Given the description of an element on the screen output the (x, y) to click on. 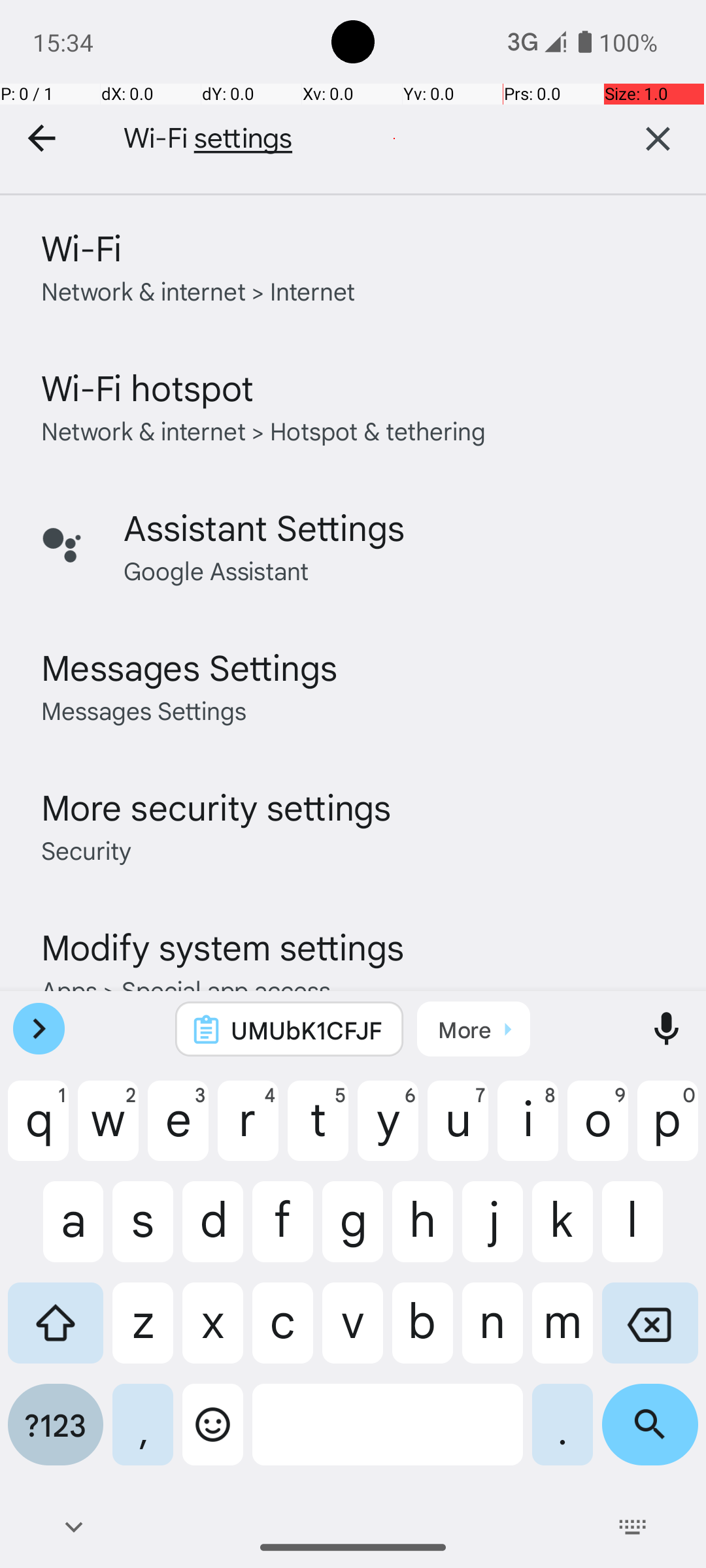
Wi-Fi settings Element type: android.widget.EditText (345, 138)
Clear text Element type: android.widget.ImageButton (657, 138)
Wi-Fi Element type: android.widget.TextView (81, 246)
Network & internet > Internet Element type: android.widget.TextView (198, 289)
Wi-Fi hotspot Element type: android.widget.TextView (147, 386)
Network & internet > Hotspot & tethering Element type: android.widget.TextView (263, 429)
Assistant Settings Element type: android.widget.TextView (263, 526)
Google Assistant Element type: android.widget.TextView (215, 569)
Messages Settings Element type: android.widget.TextView (189, 666)
More security settings Element type: android.widget.TextView (216, 806)
Security Element type: android.widget.TextView (86, 848)
Modify system settings Element type: android.widget.TextView (222, 945)
Apps > Special app access Element type: android.widget.TextView (185, 988)
